Given the description of an element on the screen output the (x, y) to click on. 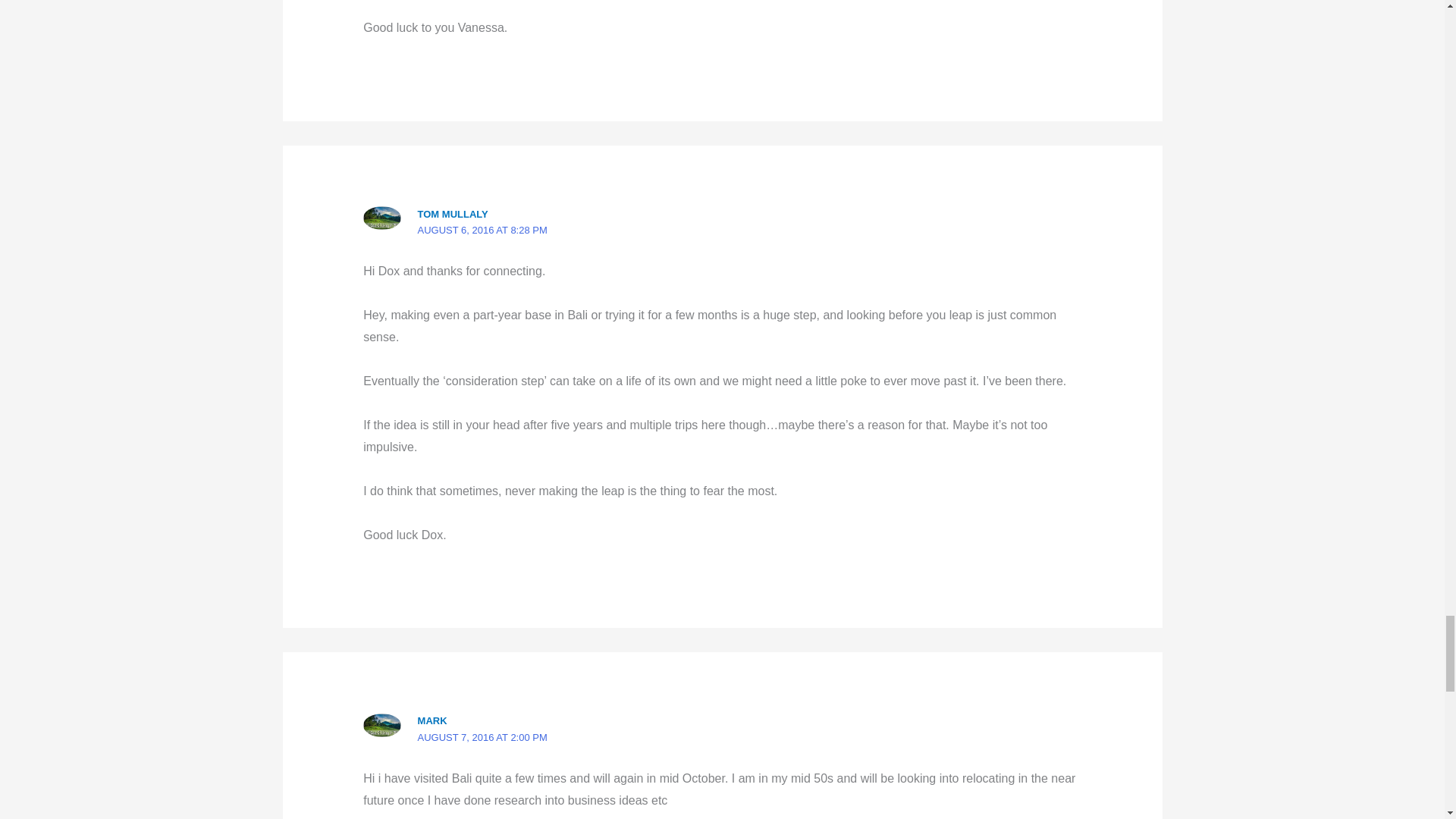
AUGUST 6, 2016 AT 8:28 PM (482, 229)
AUGUST 7, 2016 AT 2:00 PM (482, 737)
